Given the description of an element on the screen output the (x, y) to click on. 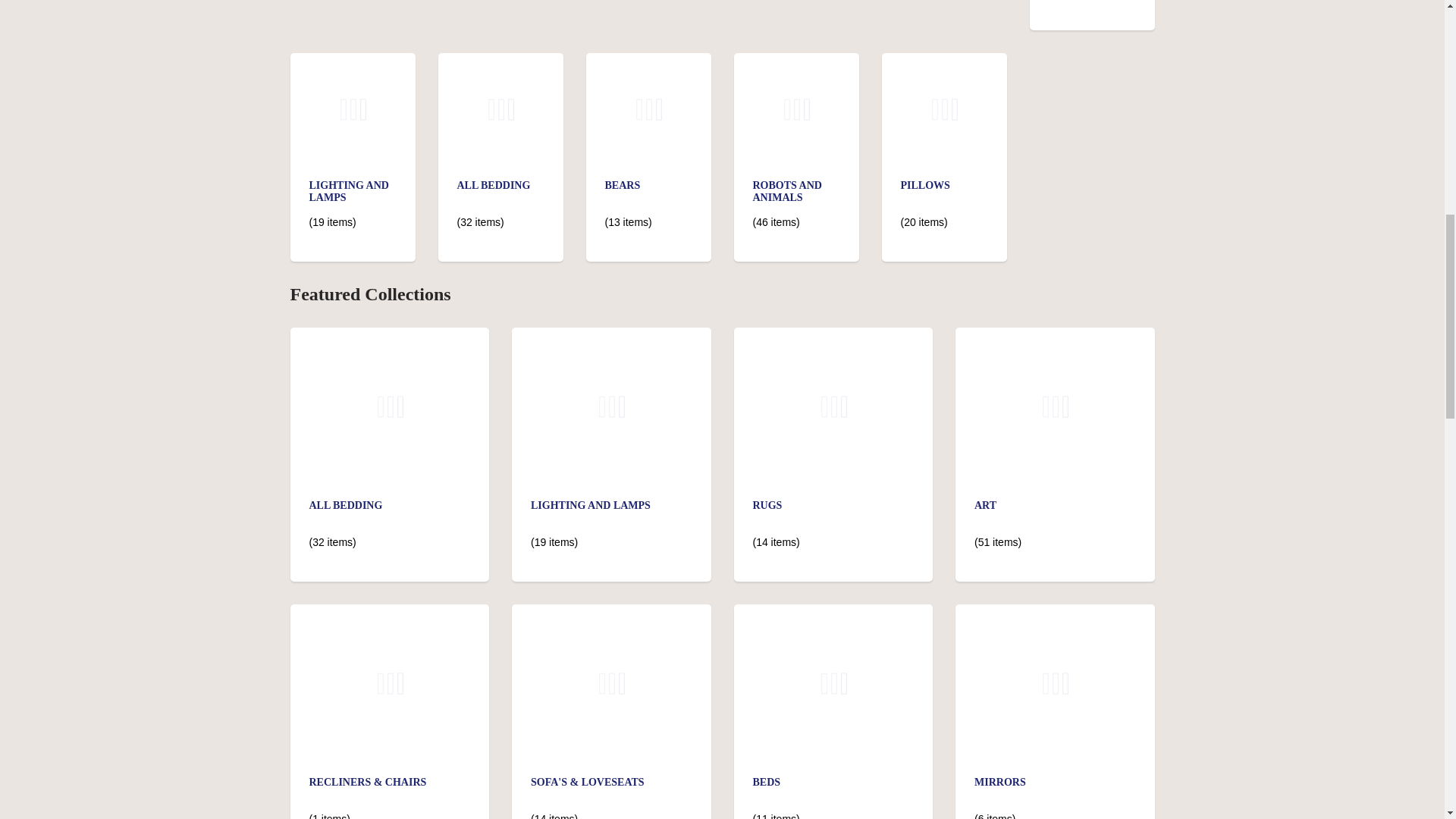
Browse our LIGHTING AND LAMPS collection (353, 70)
Browse our ALL BEDDING collection (500, 63)
Browse our ALL BEDDING collection (493, 184)
Browse our BEARS collection (647, 63)
Browse our LIGHTING AND LAMPS collection (348, 191)
Browse our BEARS collection (622, 184)
